Given the description of an element on the screen output the (x, y) to click on. 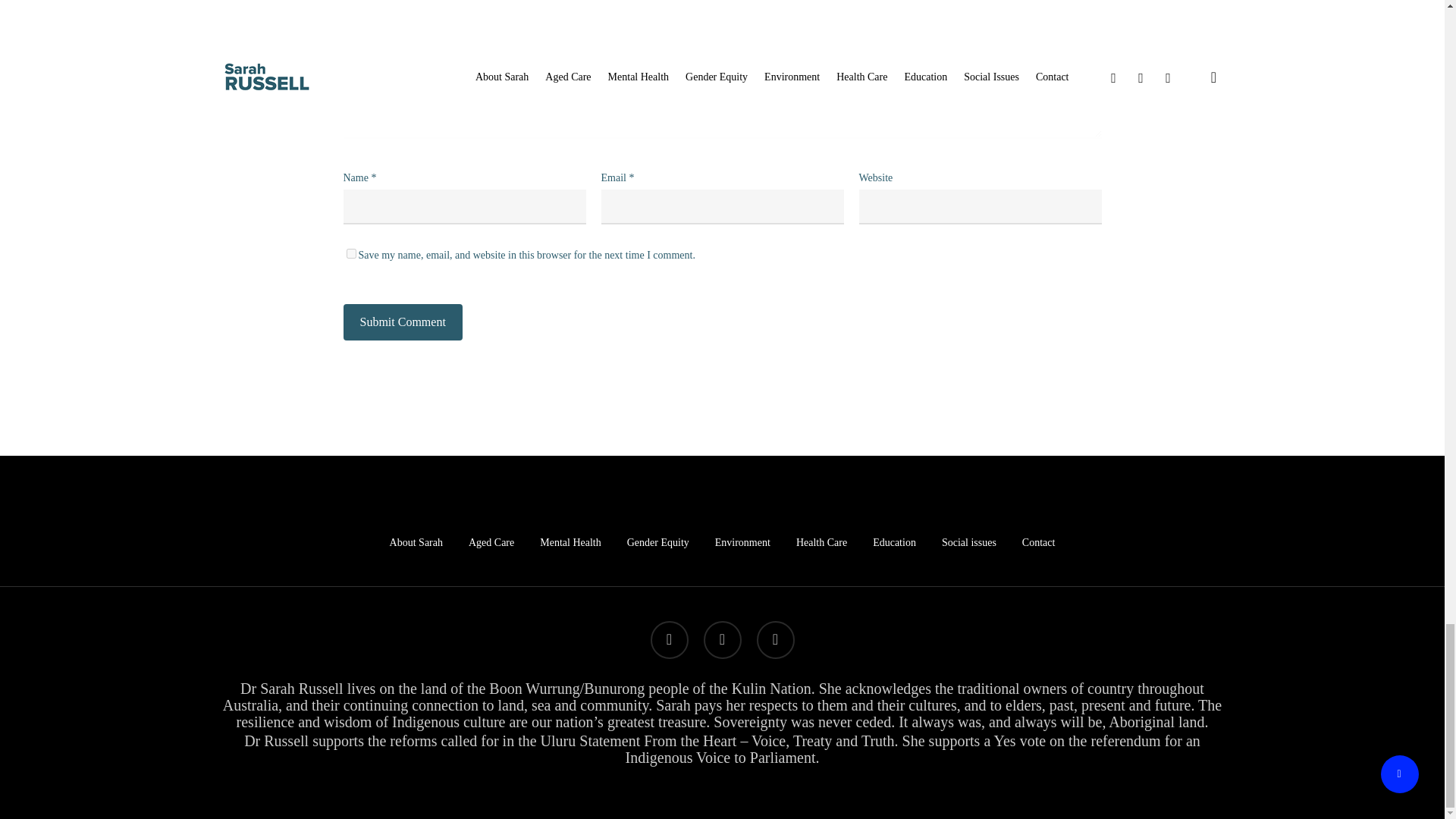
yes (350, 253)
Submit Comment (401, 321)
